Given the description of an element on the screen output the (x, y) to click on. 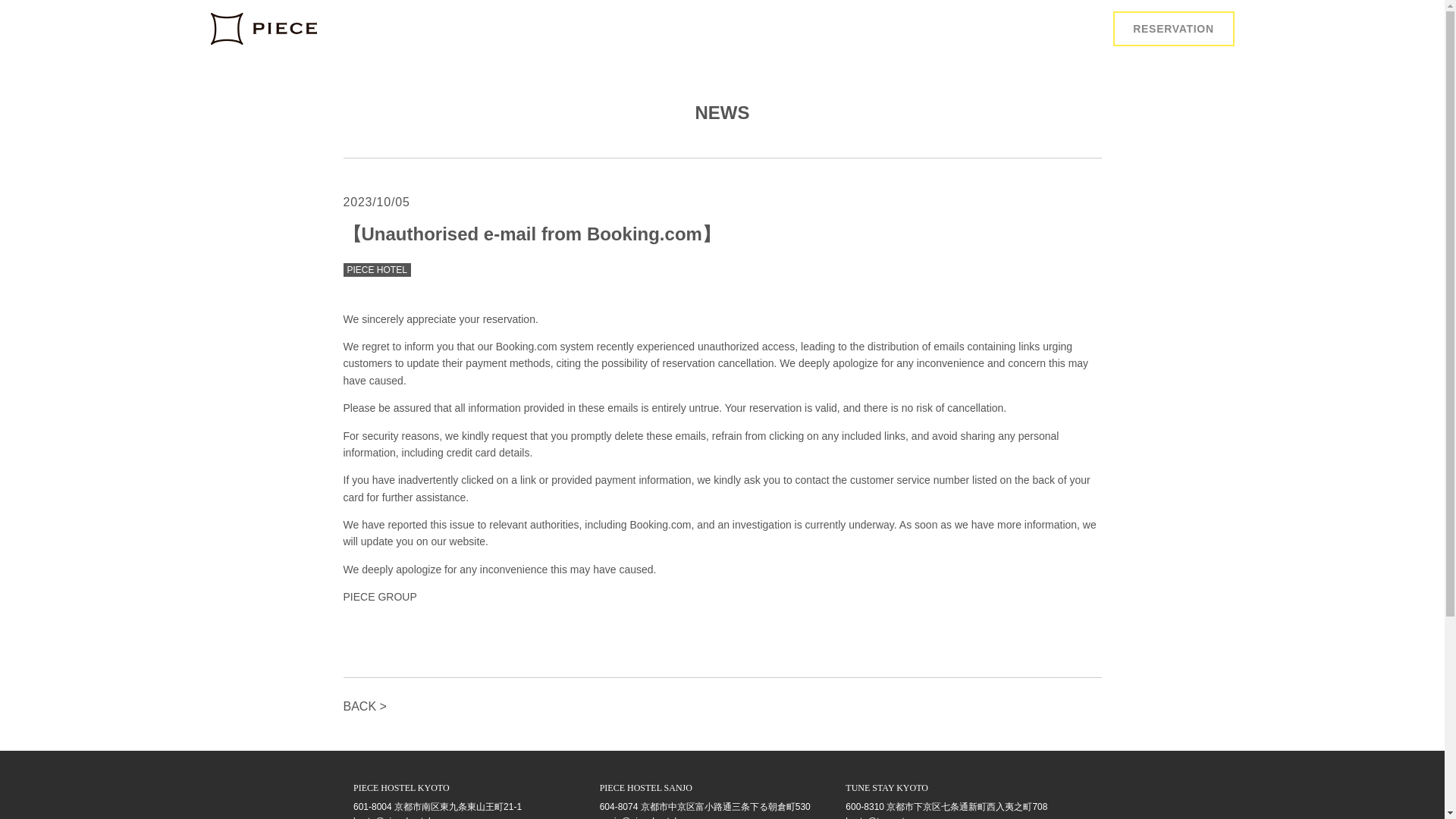
RESERVATION (1173, 28)
SEARCH (721, 318)
